Given the description of an element on the screen output the (x, y) to click on. 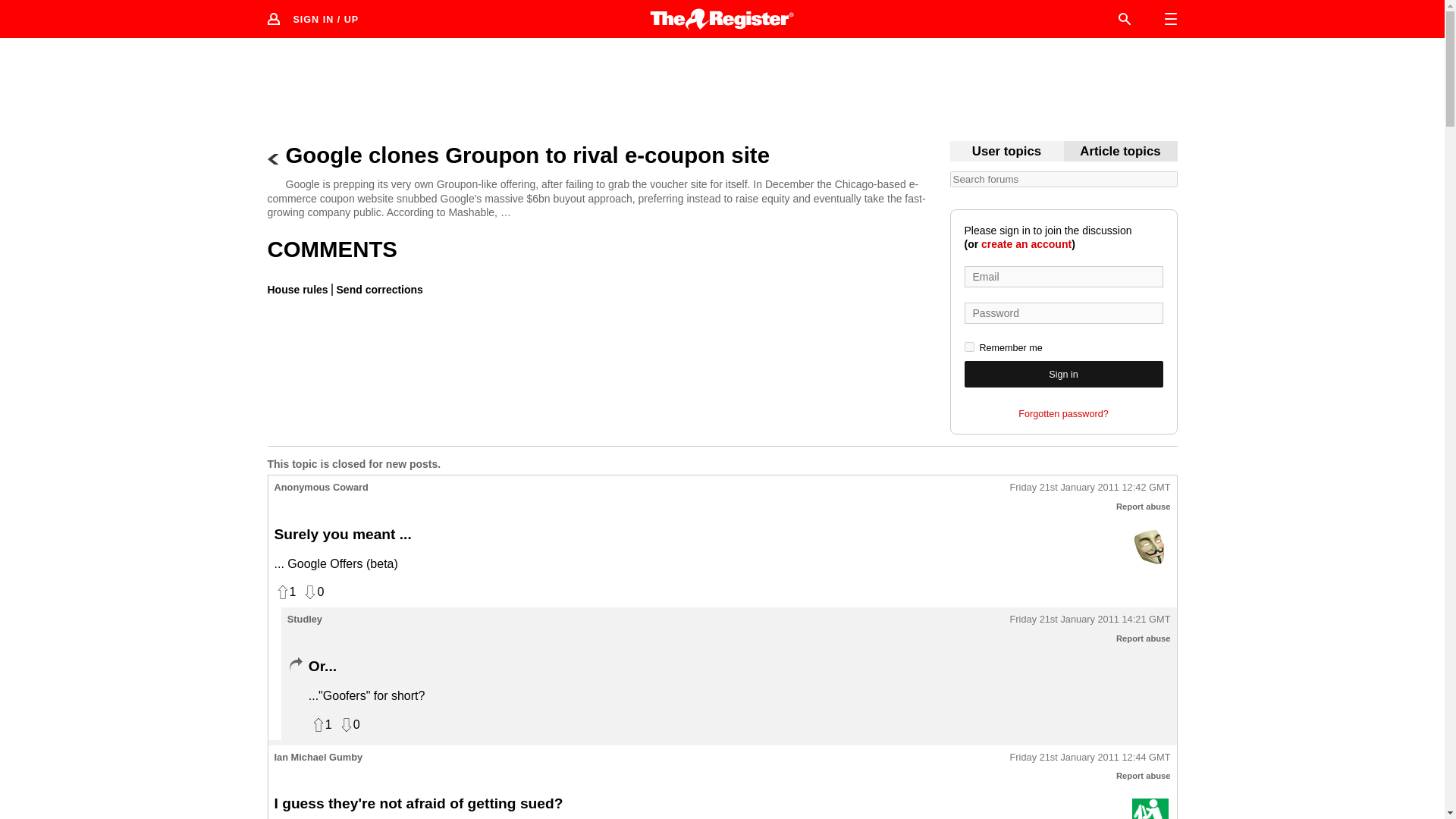
Report abuse (1143, 775)
For corrections, please use link below article copy, kthxbye (1120, 151)
Report abuse (1143, 506)
Spotted an error? Let us know. (377, 289)
Inappropriate post? Report it to our moderators (1143, 506)
Report abuse (1143, 637)
Permalink to this post (1090, 757)
Dislike this post? Vote it down! (312, 591)
Permalink to this post (1090, 619)
yes (968, 347)
